Given the description of an element on the screen output the (x, y) to click on. 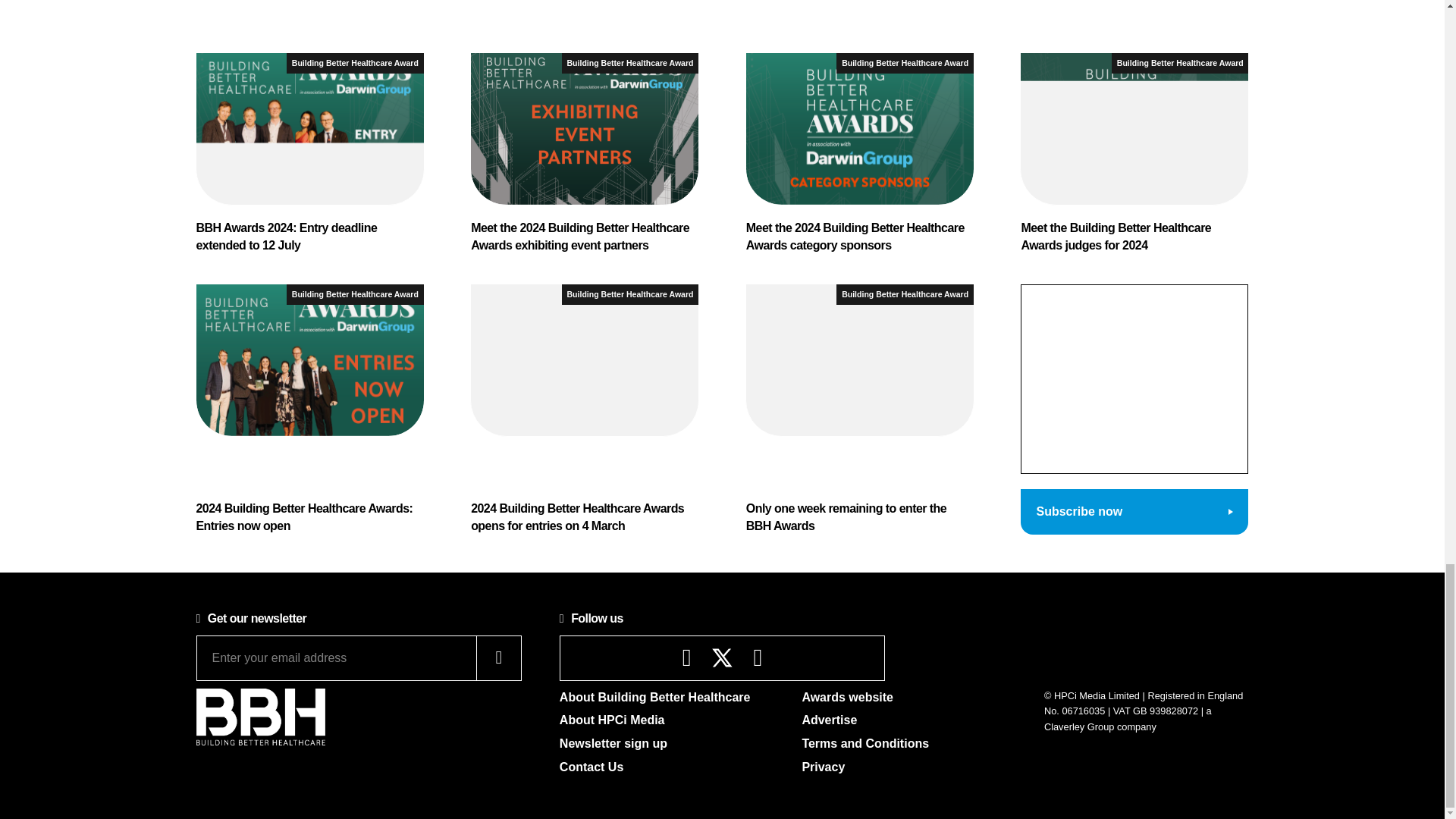
Follow Building Better Healthcare on X (722, 658)
